Given the description of an element on the screen output the (x, y) to click on. 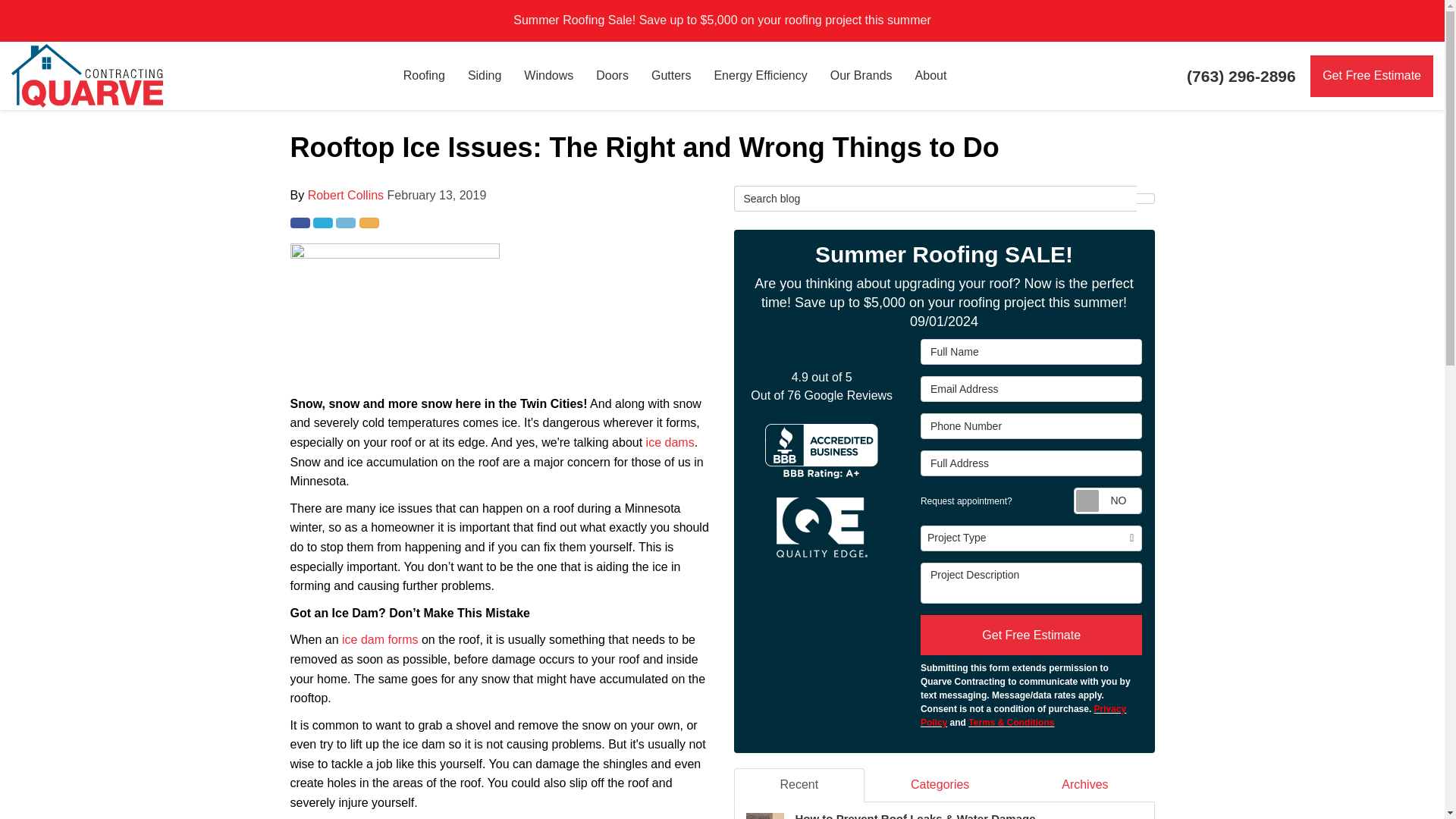
Windows (548, 75)
Roofing (424, 75)
Get Free Estimate (1371, 76)
Energy Efficiency (759, 75)
Our Brands (861, 75)
Get Free Estimate (1371, 76)
Gutters (670, 75)
